Given the description of an element on the screen output the (x, y) to click on. 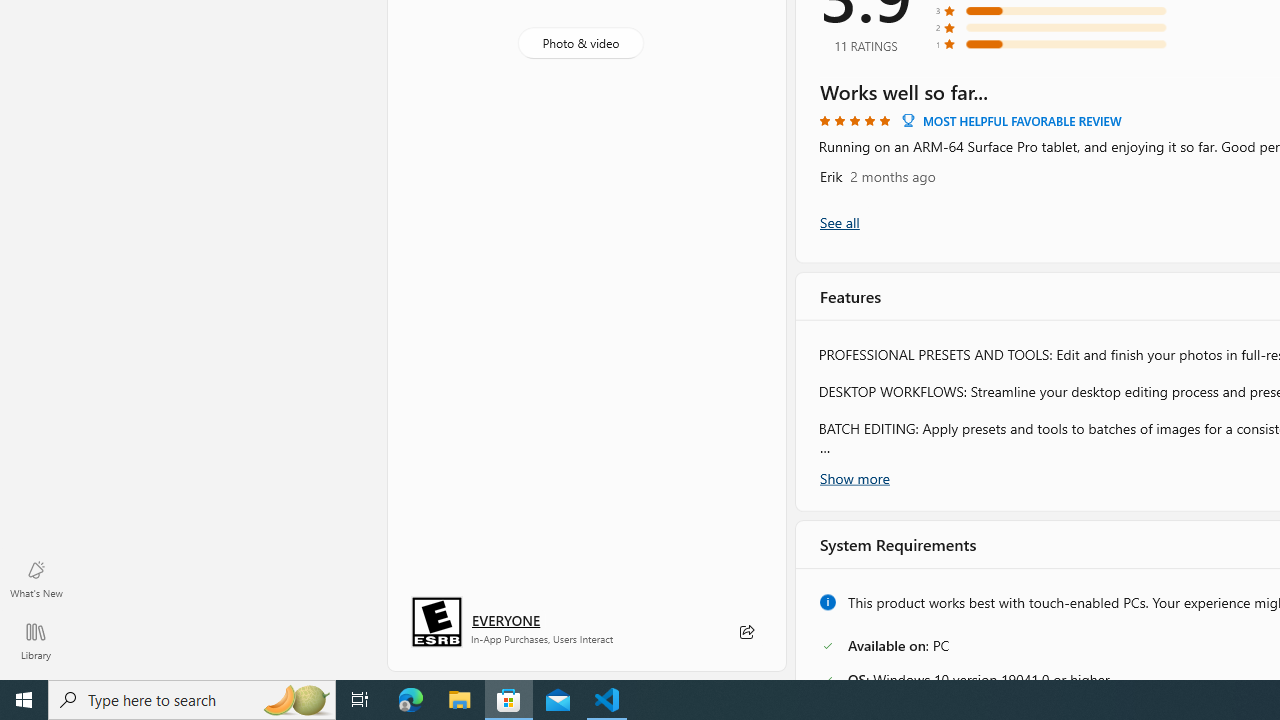
Permissions info (1181, 539)
Age rating: EVERYONE. Click for more information. (506, 619)
Share (746, 632)
Library (35, 640)
Visual Supply Company (919, 404)
Report this product for violating Microsoft Store Policy (946, 647)
Show less (850, 255)
What's New (35, 578)
Photo & video (579, 43)
Report this product for illegal content (961, 672)
